Given the description of an element on the screen output the (x, y) to click on. 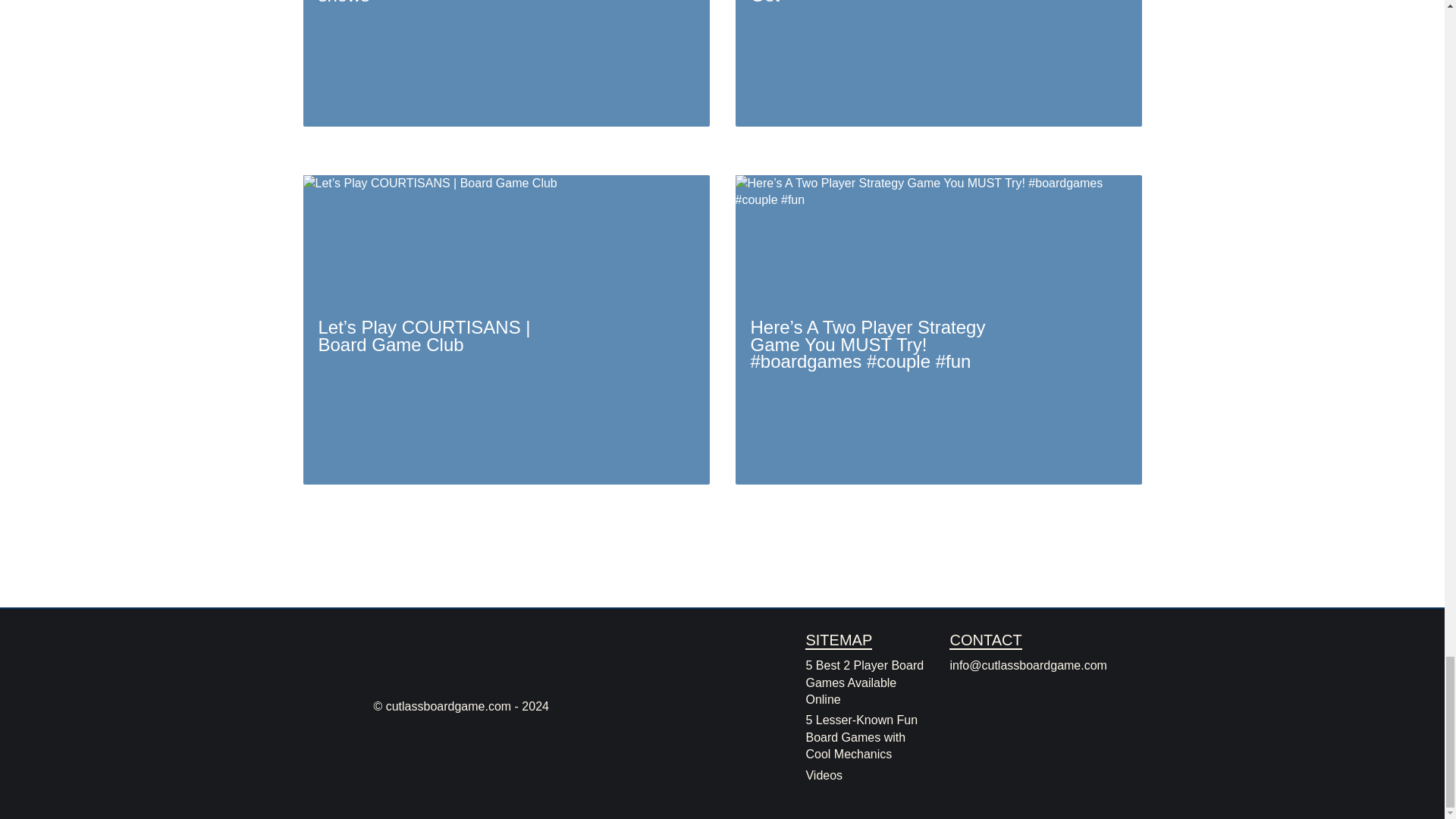
5 Best 2 Player Board Games Available Online (864, 682)
TOP 30 Best Board Games Based On Movies and TV shows (506, 63)
